Given the description of an element on the screen output the (x, y) to click on. 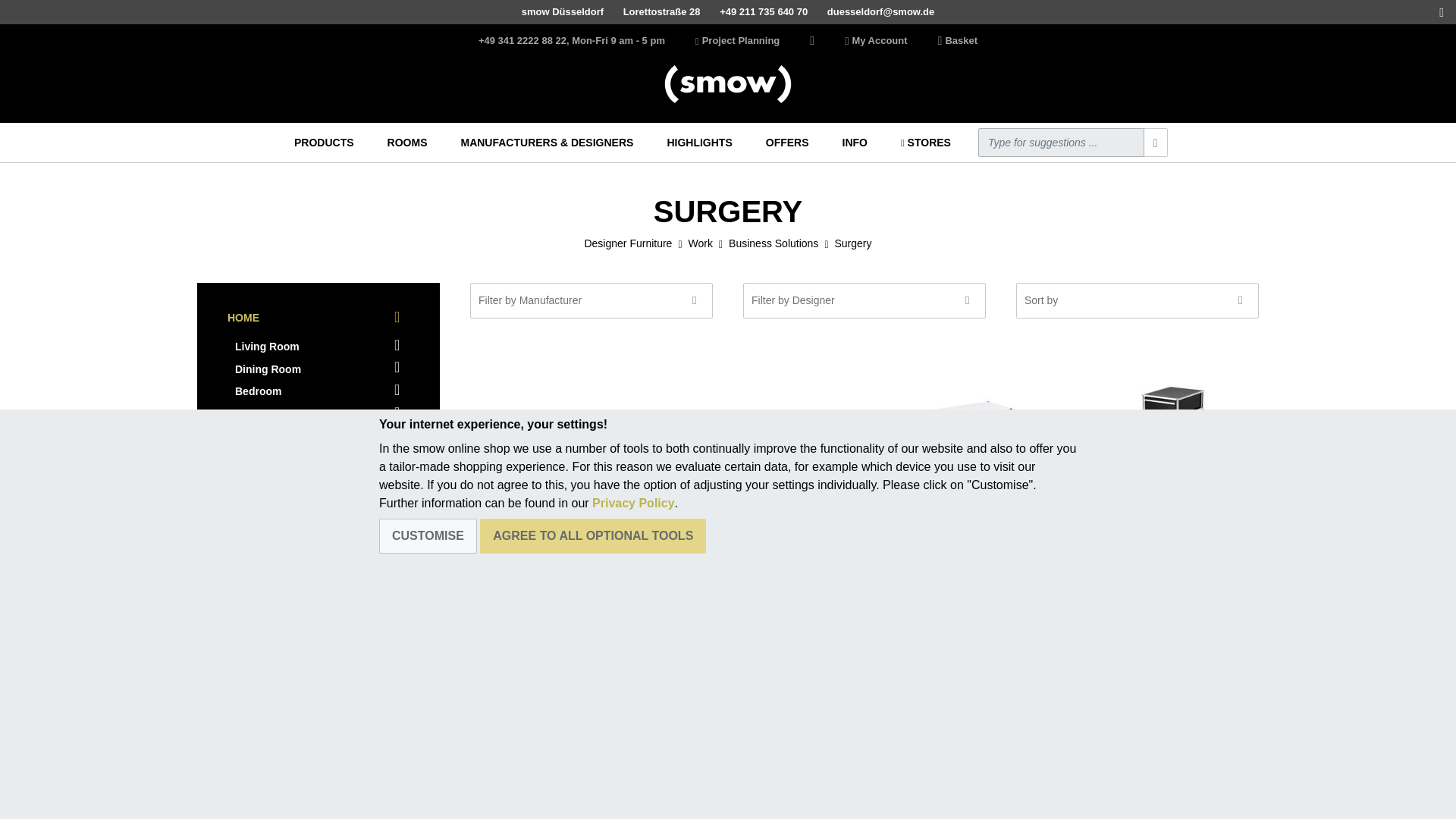
CUSTOMISE (427, 535)
ROOMS (407, 142)
OFFERS (787, 142)
My Account (875, 40)
Back to homepage - smow online shop (727, 84)
Basket (956, 40)
PRODUCTS (323, 142)
AGREE TO ALL OPTIONAL TOOLS (593, 535)
STORES (925, 142)
Privacy Policy (633, 502)
INFO (854, 142)
Project Planning (736, 40)
HIGHLIGHTS (699, 142)
